Given the description of an element on the screen output the (x, y) to click on. 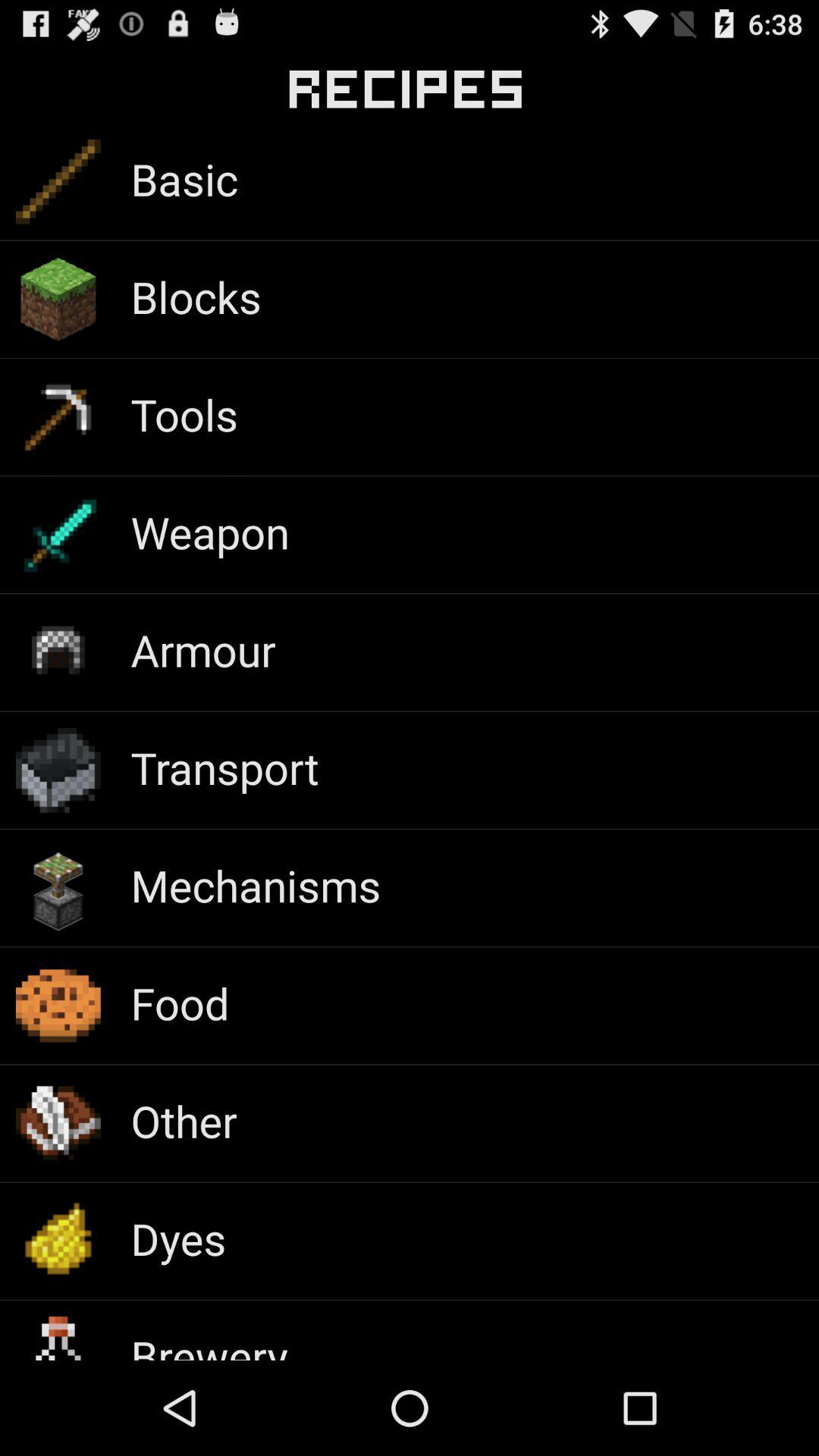
jump until the food icon (179, 1002)
